Given the description of an element on the screen output the (x, y) to click on. 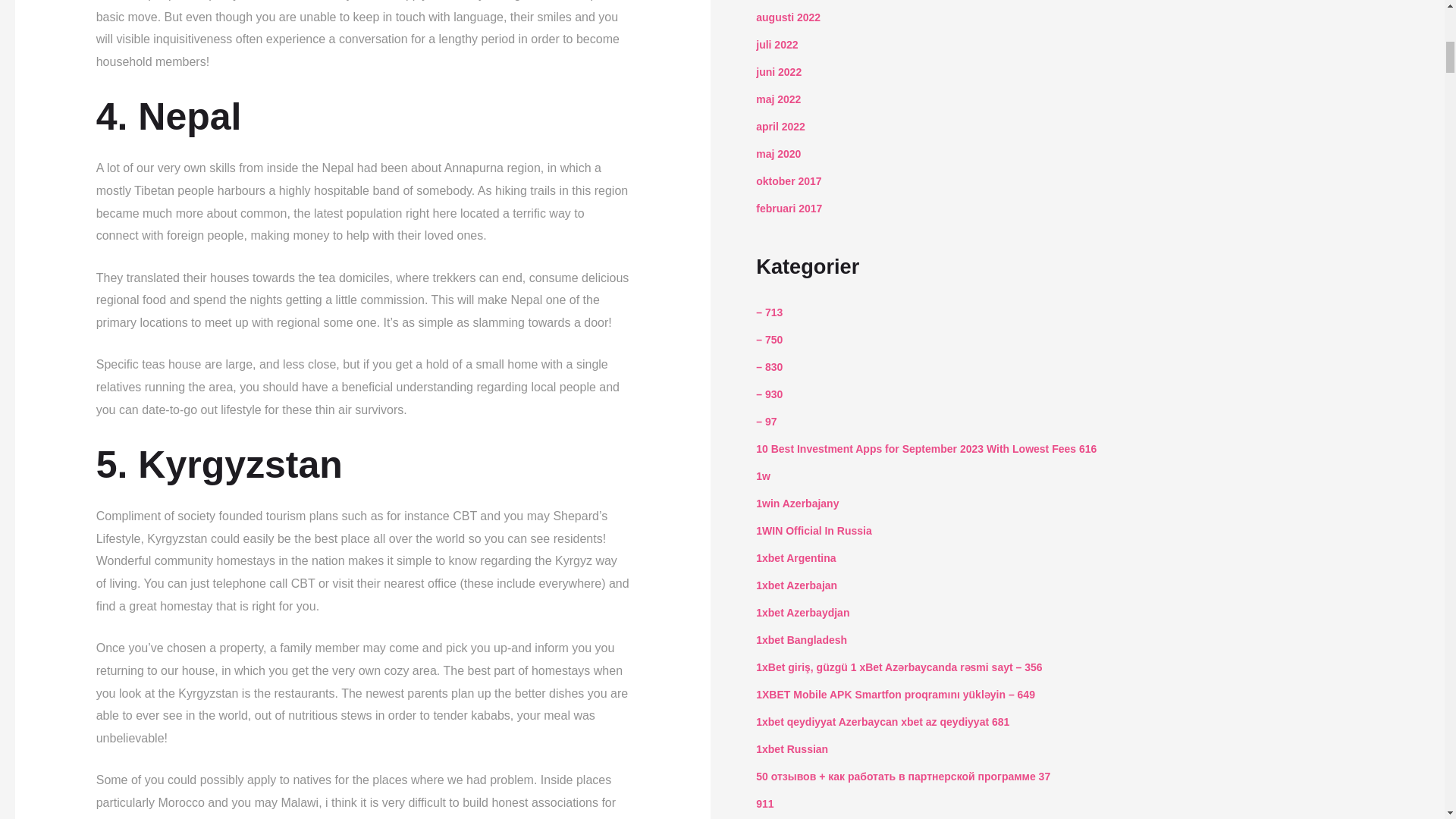
maj 2022 (777, 99)
juni 2022 (778, 71)
juli 2022 (776, 44)
augusti 2022 (788, 17)
april 2022 (780, 126)
